Given the description of an element on the screen output the (x, y) to click on. 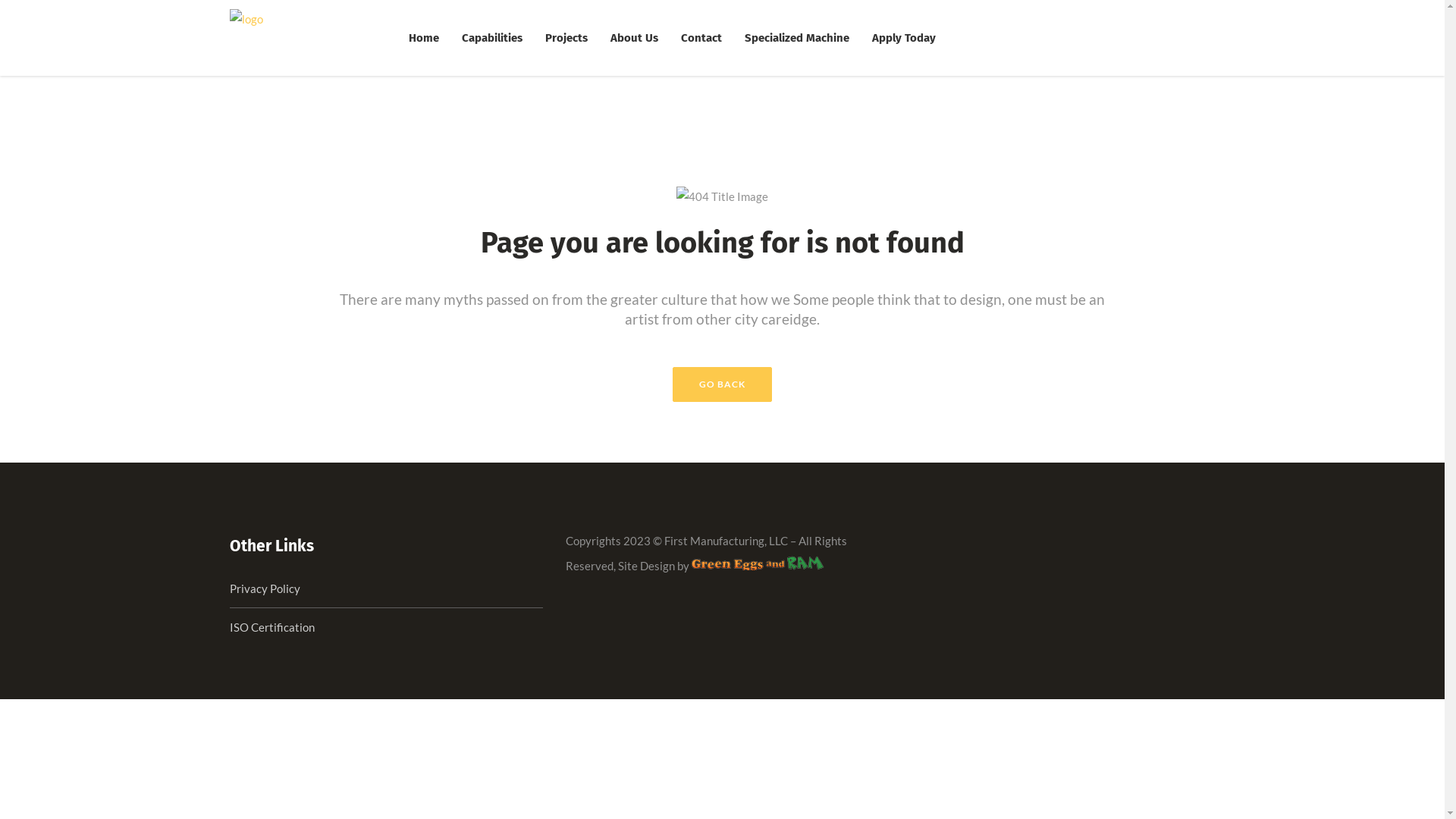
Specialized Machine Element type: text (795, 37)
Contact Element type: text (700, 37)
Privacy Policy Element type: text (264, 588)
Home Element type: text (423, 37)
Capabilities Element type: text (491, 37)
GO BACK Element type: text (721, 384)
Apply Today Element type: text (902, 37)
Projects Element type: text (566, 37)
About Us Element type: text (634, 37)
ISO Certification Element type: text (271, 626)
